Given the description of an element on the screen output the (x, y) to click on. 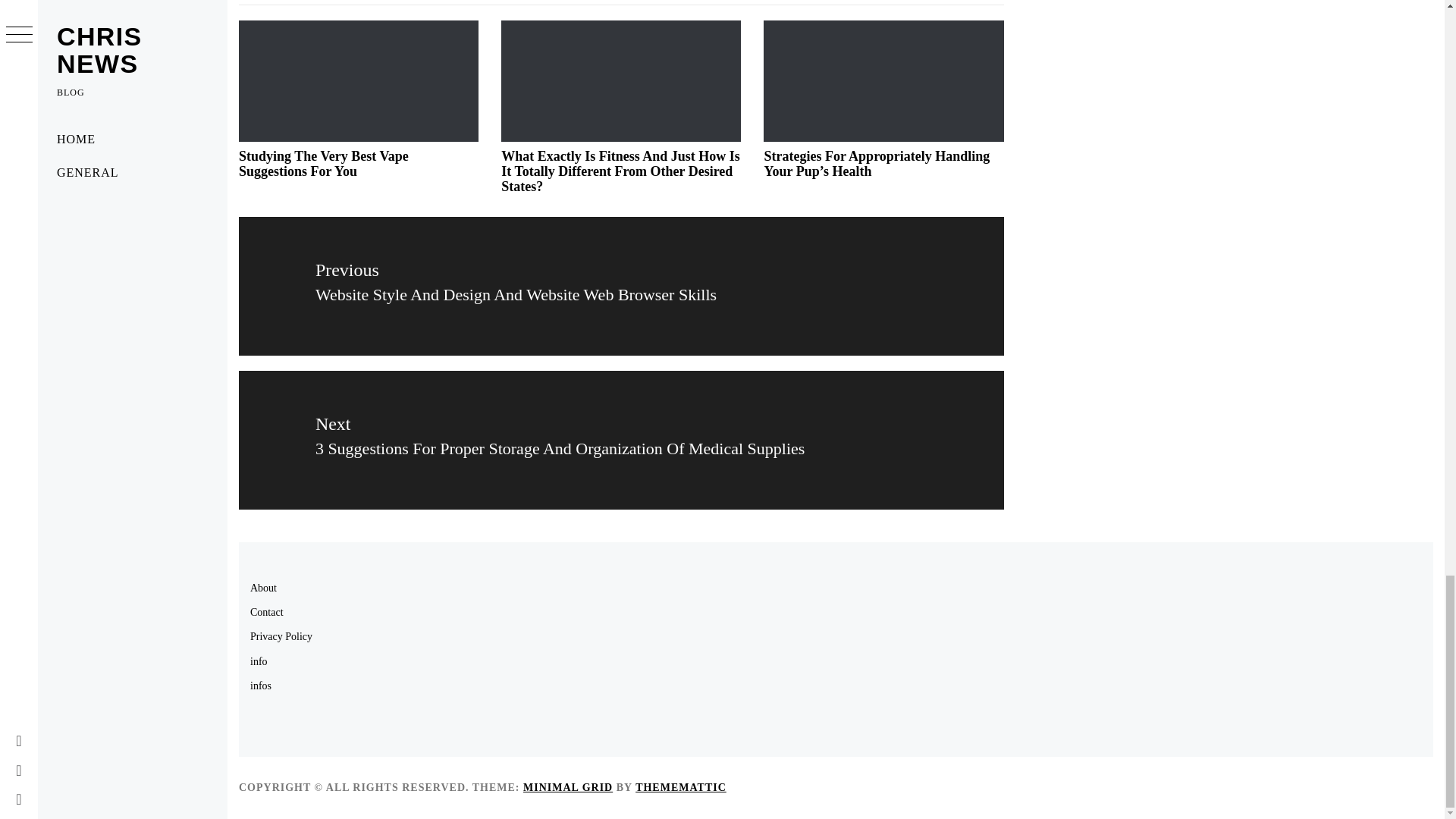
Studying The Very Best Vape Suggestions For You (323, 163)
